Given the description of an element on the screen output the (x, y) to click on. 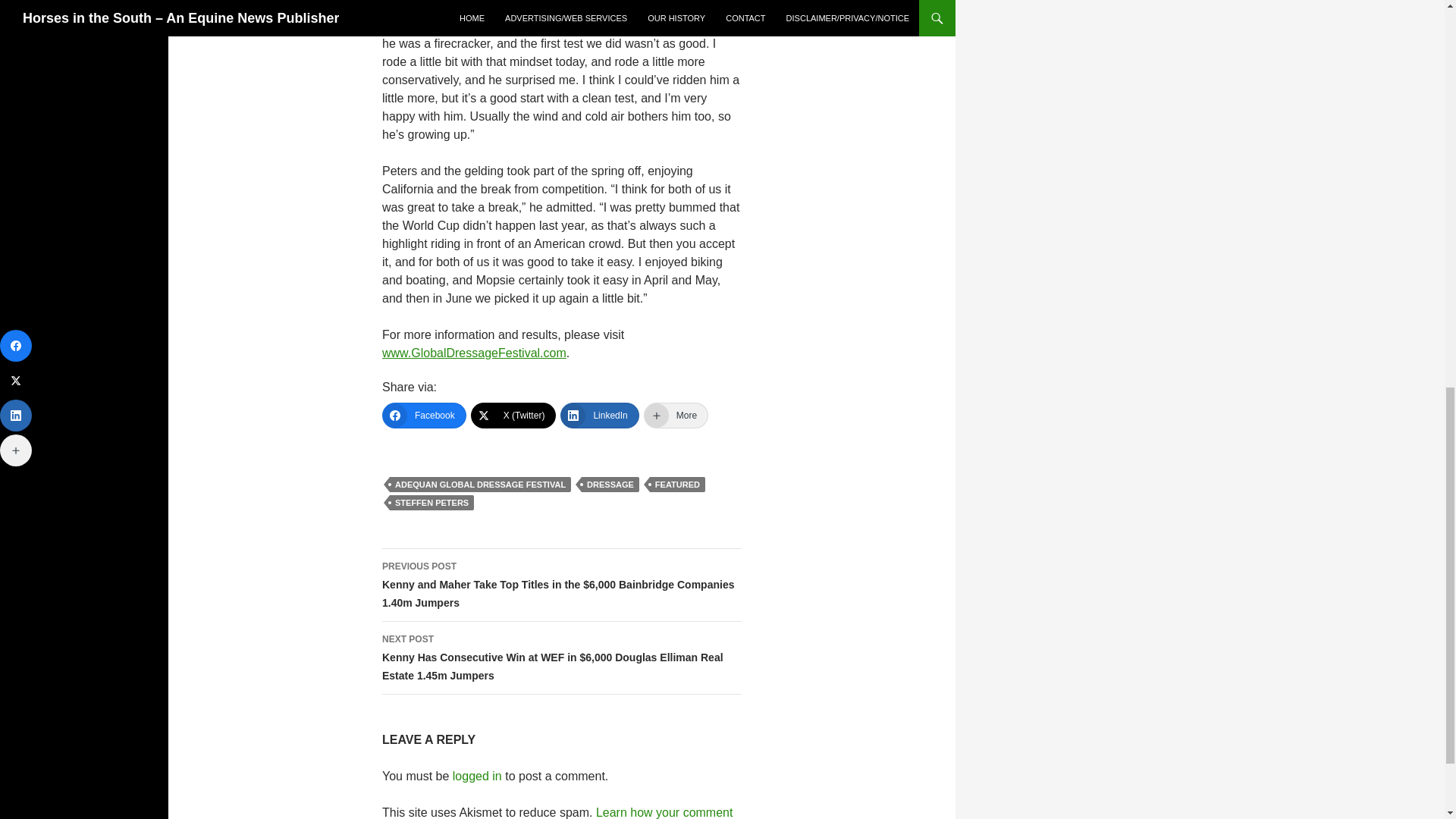
LinkedIn (599, 415)
ADEQUAN GLOBAL DRESSAGE FESTIVAL (480, 484)
FEATURED (676, 484)
Facebook (423, 415)
www.GlobalDressageFestival.com (473, 352)
STEFFEN PETERS (432, 502)
More (675, 415)
DRESSAGE (609, 484)
Learn how your comment data is processed (556, 812)
logged in (477, 775)
